Given the description of an element on the screen output the (x, y) to click on. 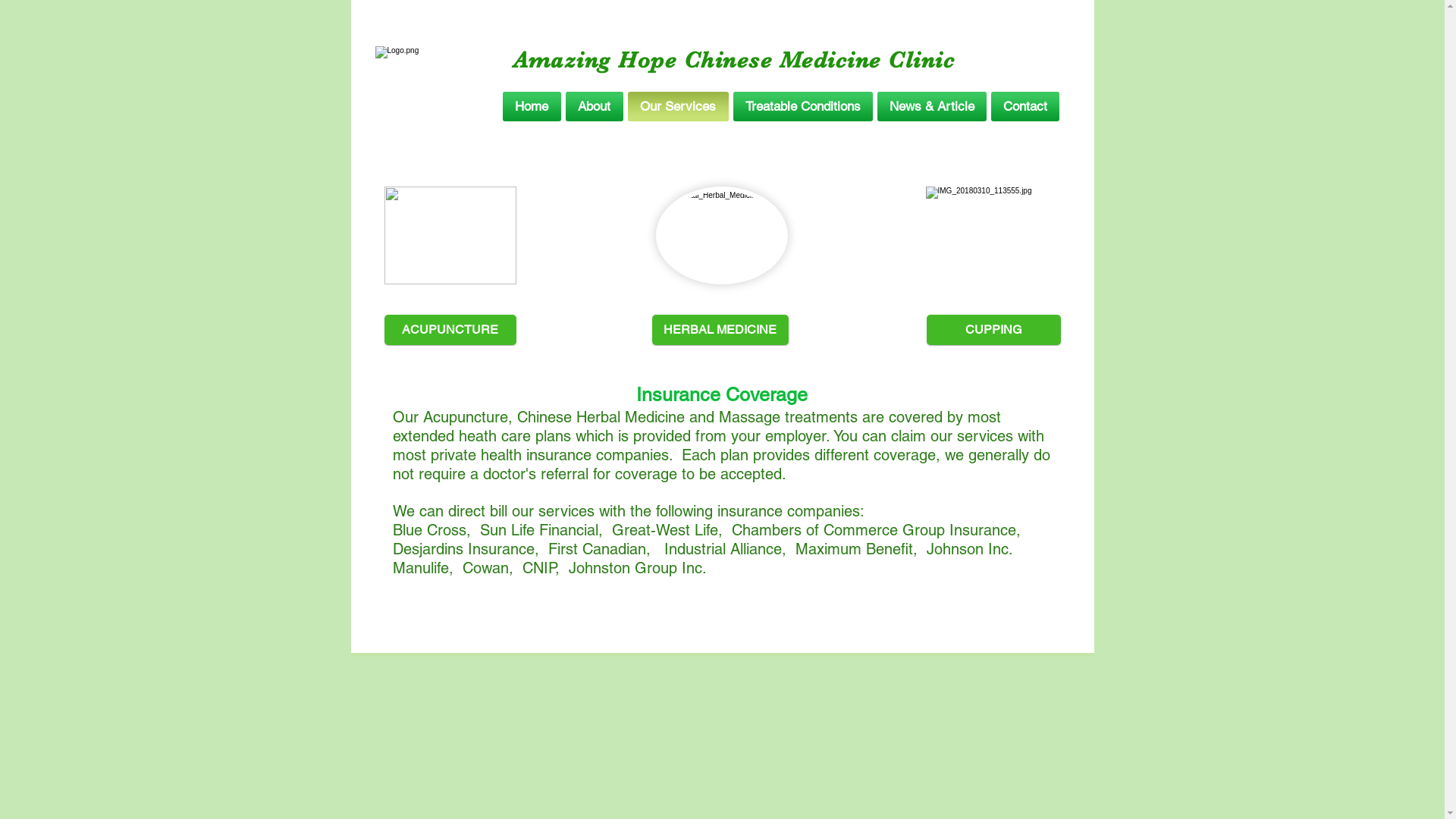
CUPPING Element type: text (993, 329)
Amazing Hope Element type: text (598, 59)
Contact Element type: text (1023, 106)
HERBAL MEDICINE Element type: text (720, 329)
ACUPUNCTURE Element type: text (449, 329)
Our Services Element type: text (677, 106)
News & Article Element type: text (931, 106)
About Element type: text (593, 106)
Home Element type: text (532, 106)
Treatable Conditions Element type: text (803, 106)
